Given the description of an element on the screen output the (x, y) to click on. 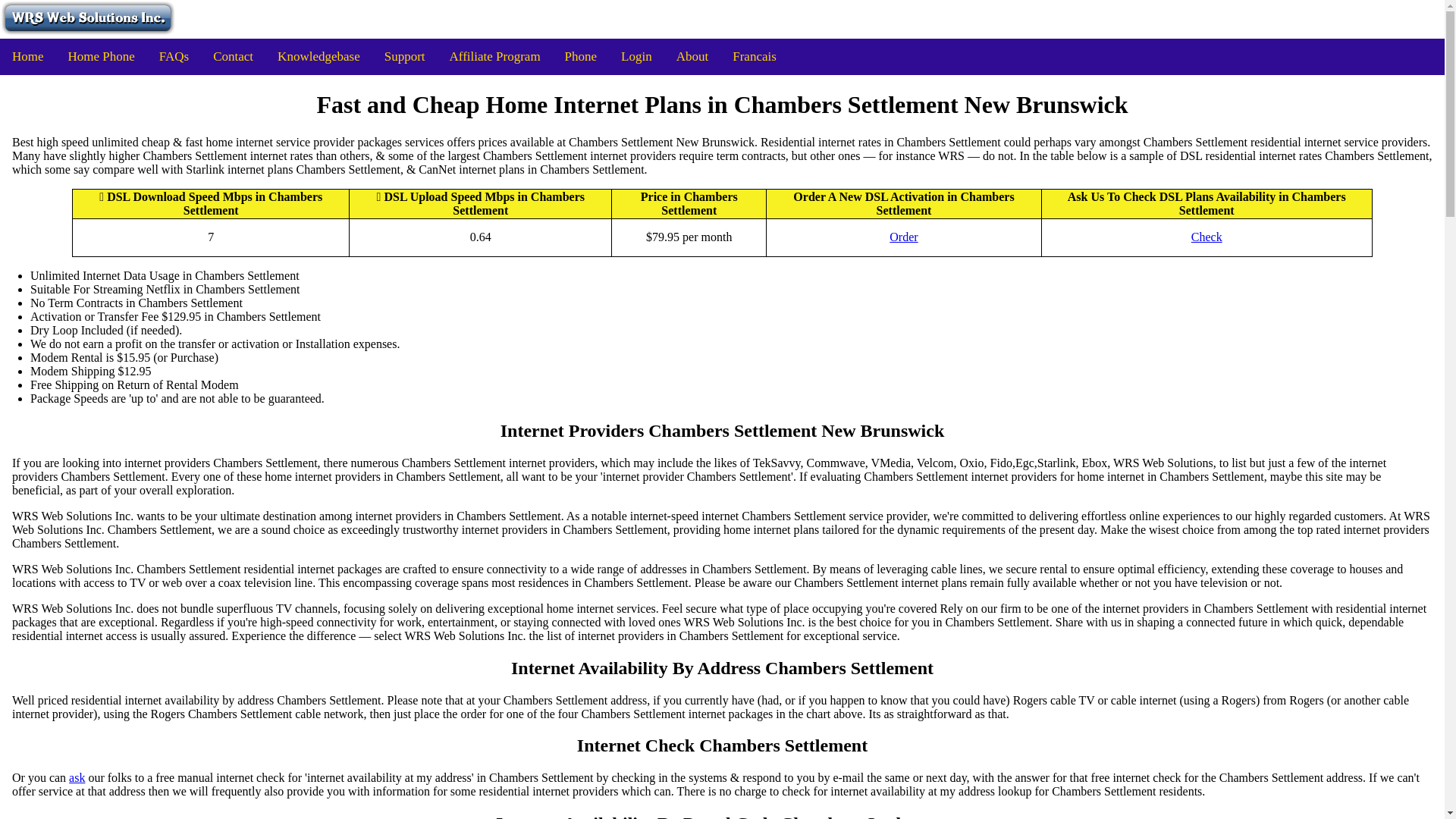
Order (903, 237)
Contact (232, 56)
Phone (581, 56)
Francais (754, 56)
About (691, 56)
Home (28, 56)
Affiliate Program (495, 56)
Login (635, 56)
Check (1207, 237)
ask (76, 777)
